Given the description of an element on the screen output the (x, y) to click on. 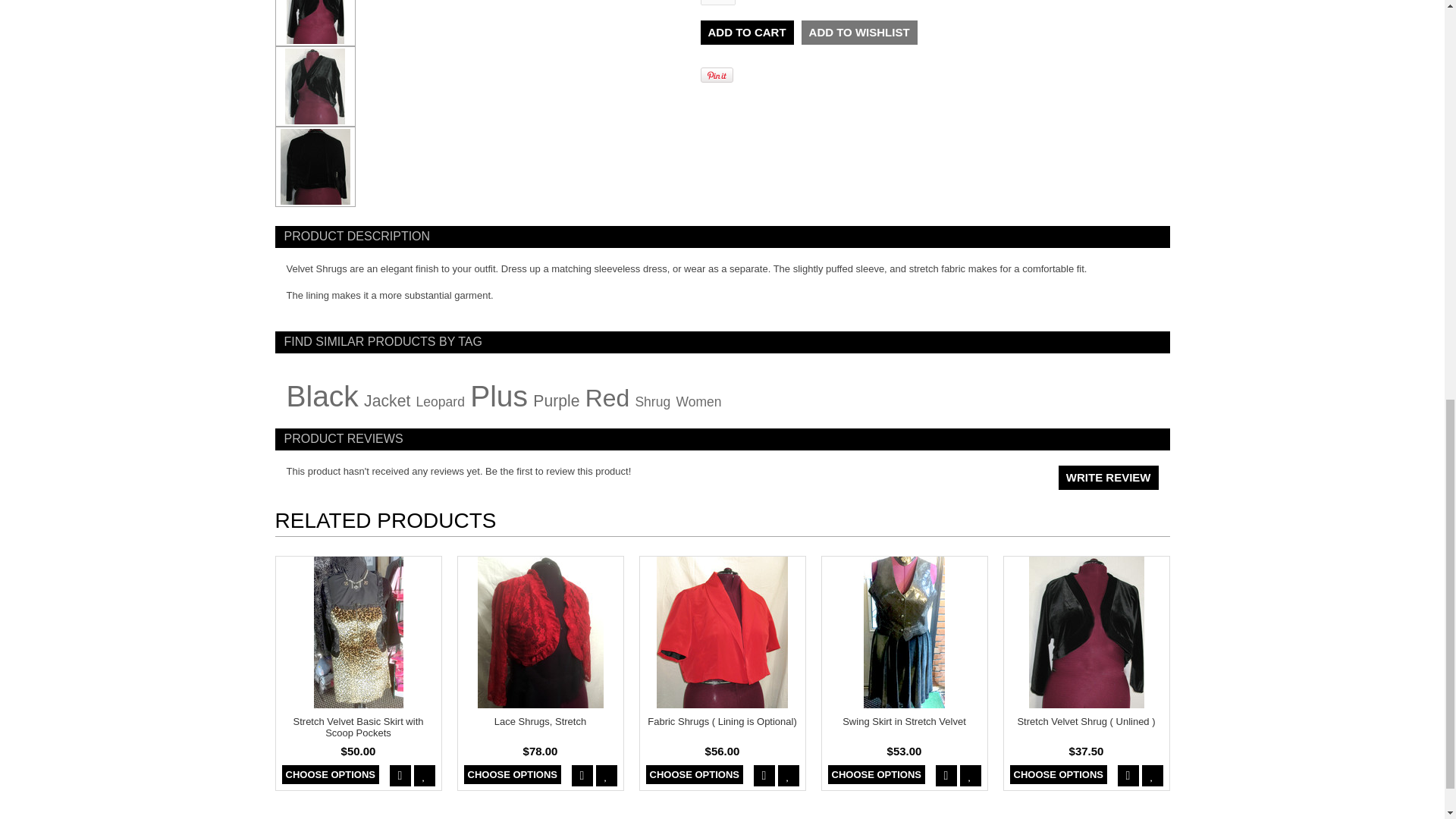
Add to Wishlist (859, 32)
Add To Cart (746, 32)
Stretch Velvet Shrug (315, 22)
